Given the description of an element on the screen output the (x, y) to click on. 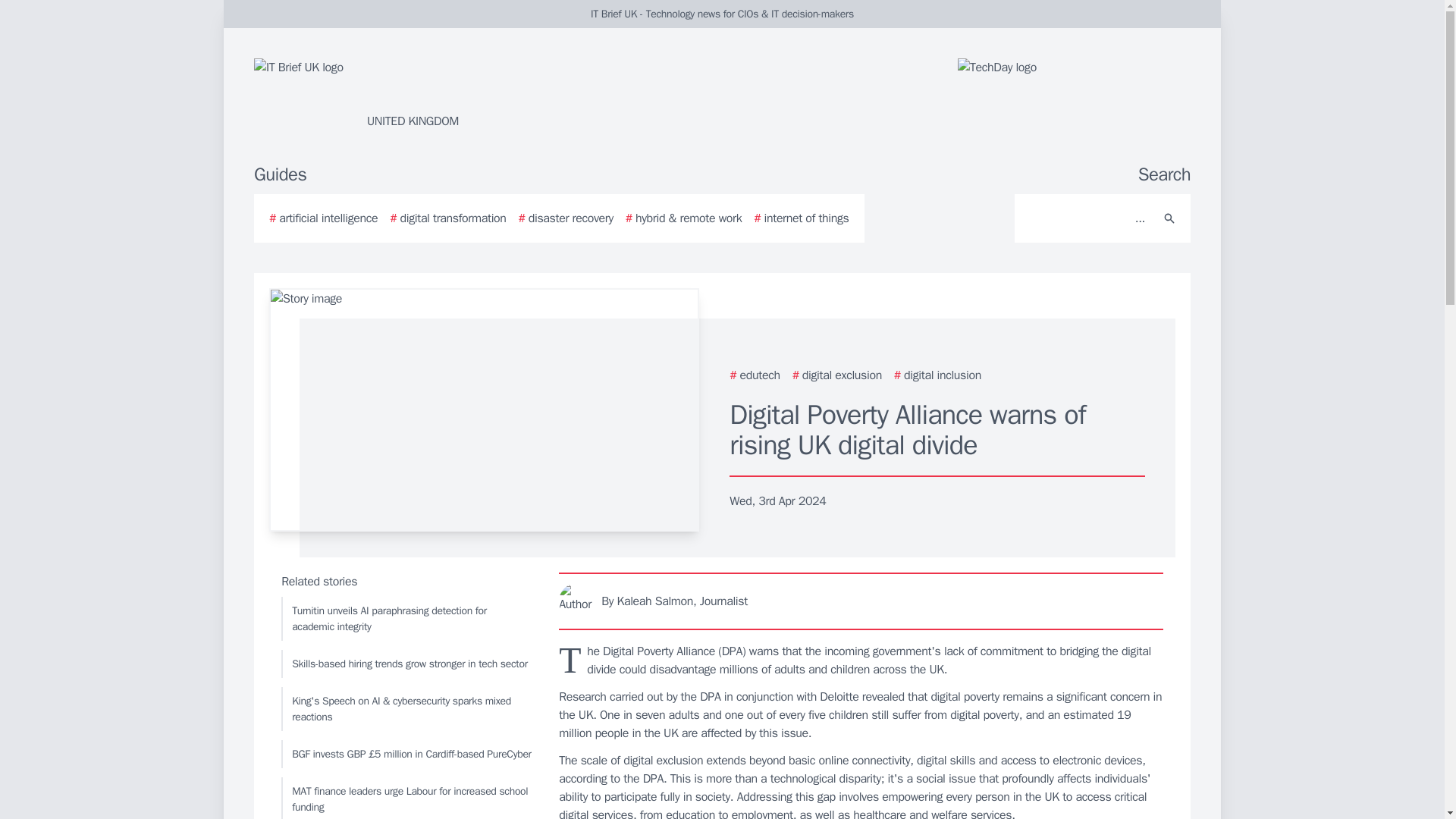
By Kaleah Salmon, Journalist (861, 601)
UNITED KINGDOM (435, 94)
MAT finance leaders urge Labour for increased school funding (406, 798)
Skills-based hiring trends grow stronger in tech sector (406, 664)
